Given the description of an element on the screen output the (x, y) to click on. 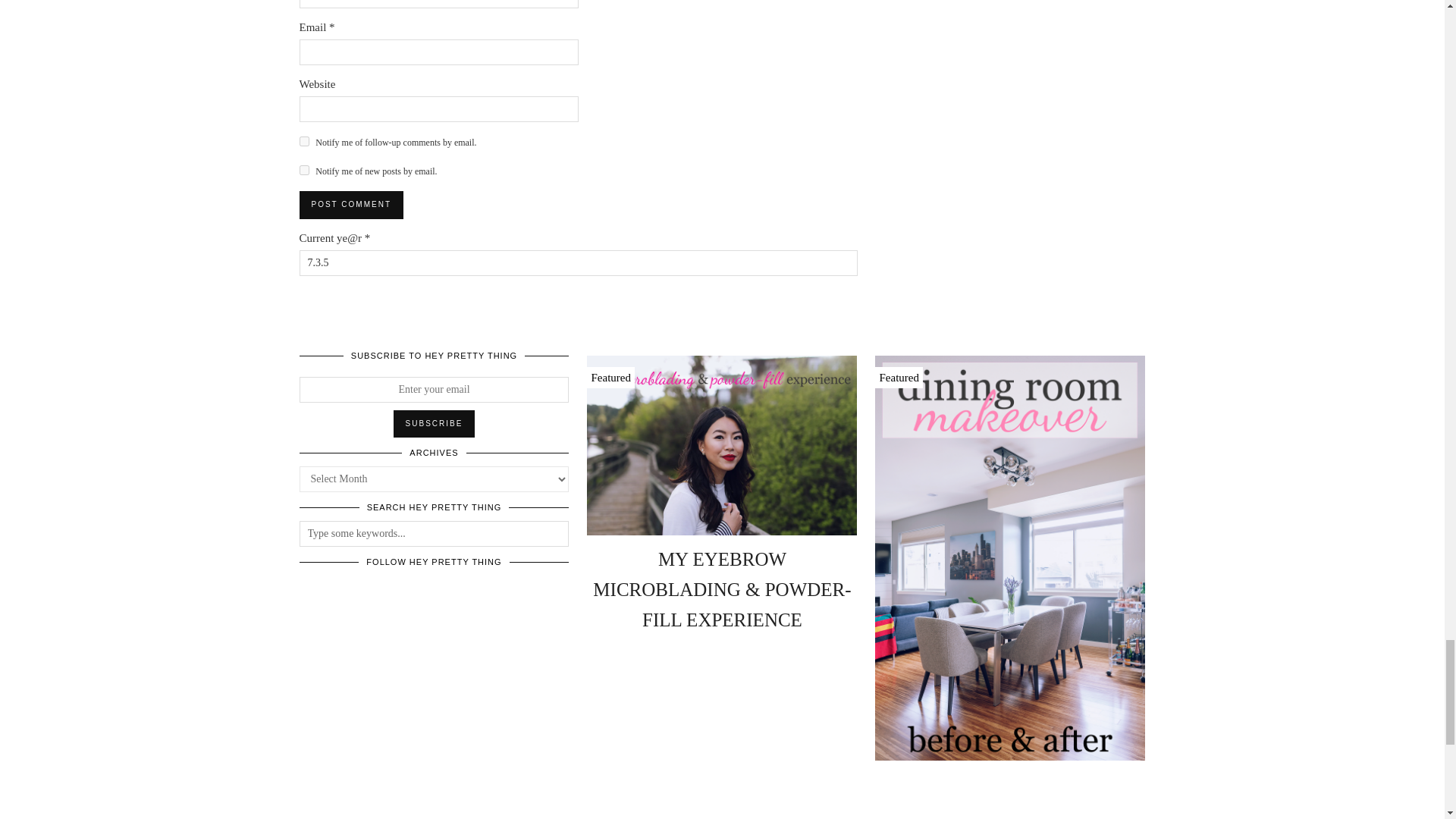
7.3.5 (577, 263)
Post Comment (350, 204)
Subscribe (434, 423)
subscribe (303, 170)
subscribe (303, 141)
